Given the description of an element on the screen output the (x, y) to click on. 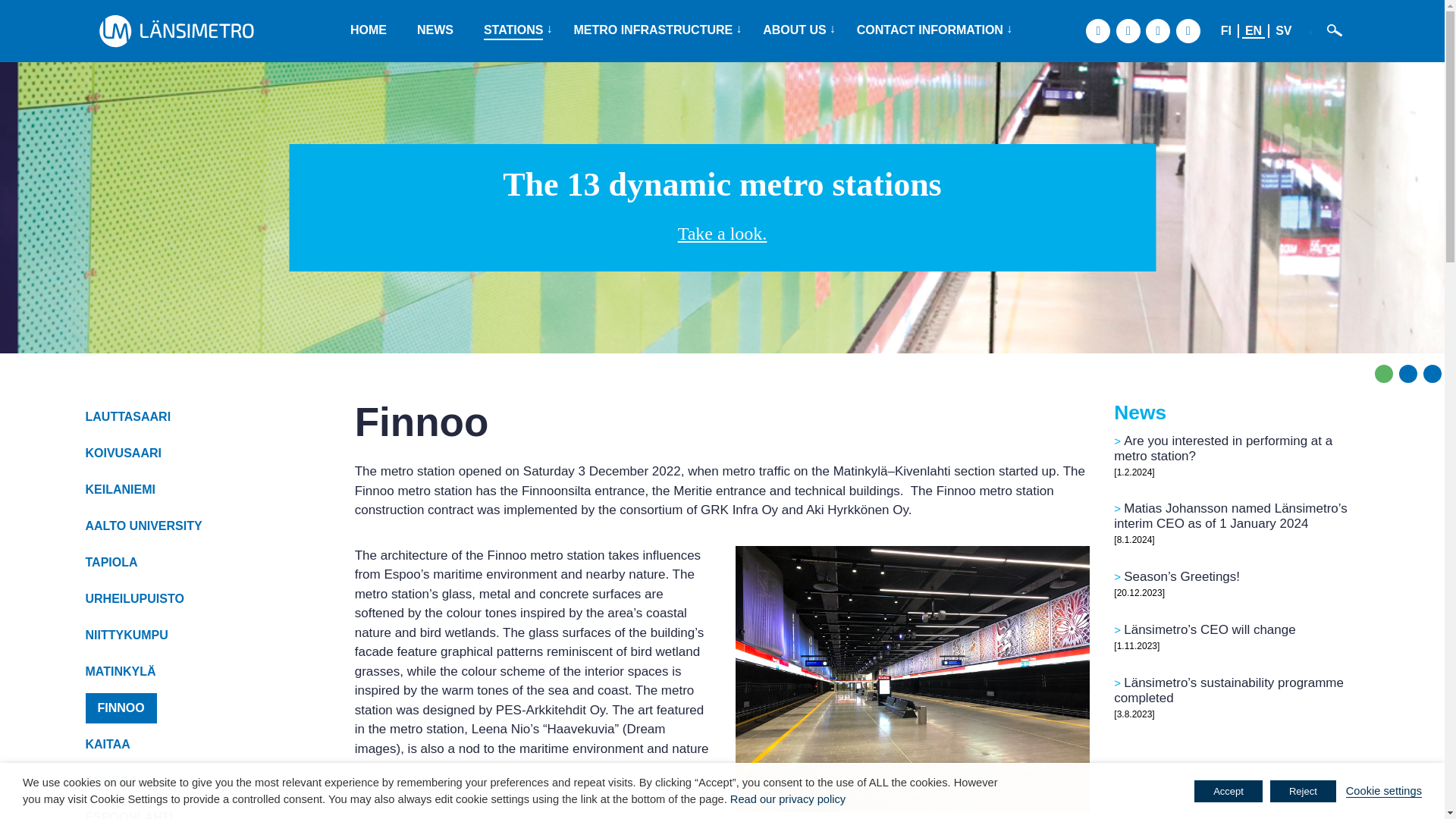
Search (1334, 30)
Are you interested in performing at a metro station? (1222, 448)
Information on the project (794, 30)
HOME (368, 30)
METRO INFRASTRUCTURE (652, 30)
STATIONS (513, 30)
ABOUT US (794, 30)
Contact information (930, 30)
NEWS (434, 30)
Home (368, 30)
Search (1334, 30)
